Given the description of an element on the screen output the (x, y) to click on. 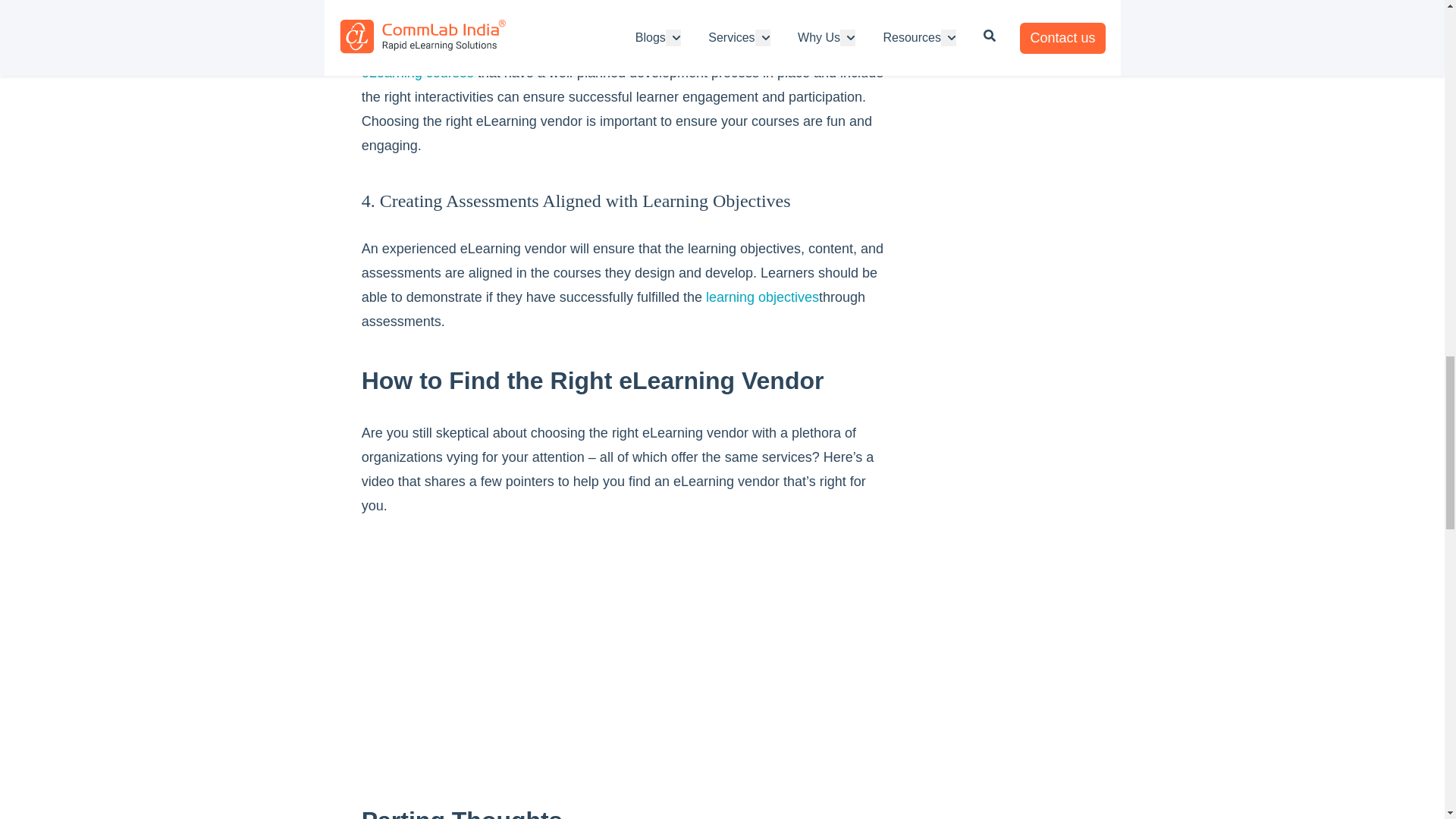
Understanding The Importance of Learning Objectives (762, 296)
4 Factors That Impact The Cost of eLearning Development (417, 72)
